Given the description of an element on the screen output the (x, y) to click on. 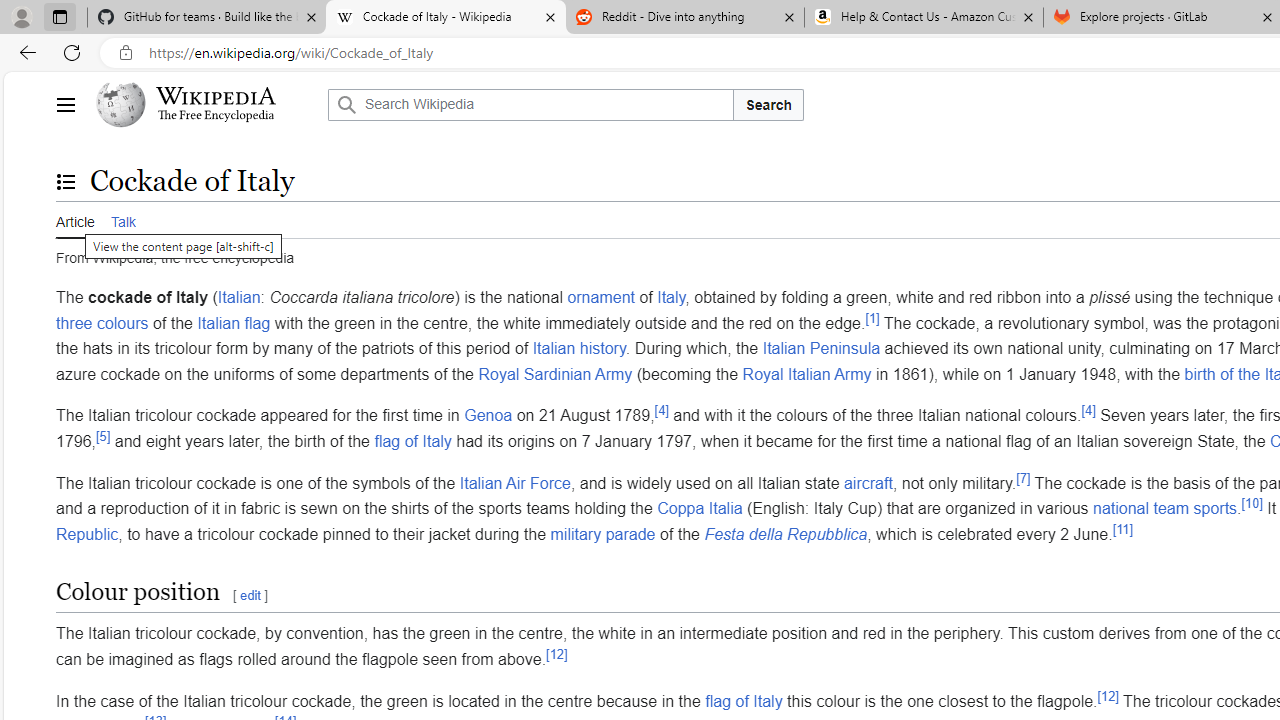
[11] (1123, 529)
Festa della Repubblica (785, 533)
Coppa Italia (699, 508)
Italian Air Force (514, 482)
ornament (600, 297)
[1] (872, 318)
Royal Sardinian Army (555, 374)
Article (75, 219)
Italian history (578, 348)
Talk (122, 219)
[7] (1023, 478)
The Free Encyclopedia (216, 116)
